Given the description of an element on the screen output the (x, y) to click on. 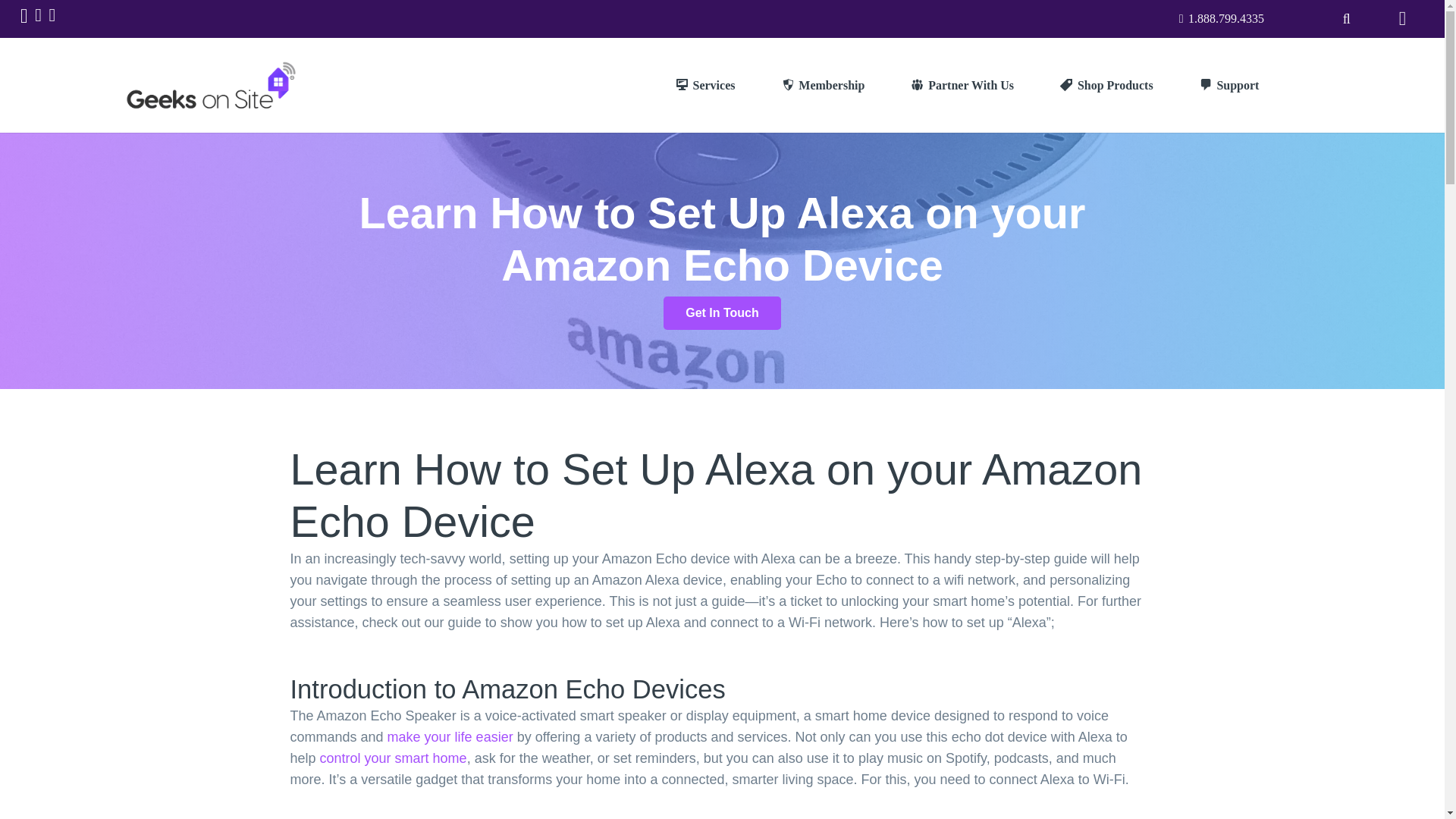
Services (705, 84)
Membership (823, 84)
1.888.799.4335 (1221, 18)
Partner With Us (961, 84)
